Given the description of an element on the screen output the (x, y) to click on. 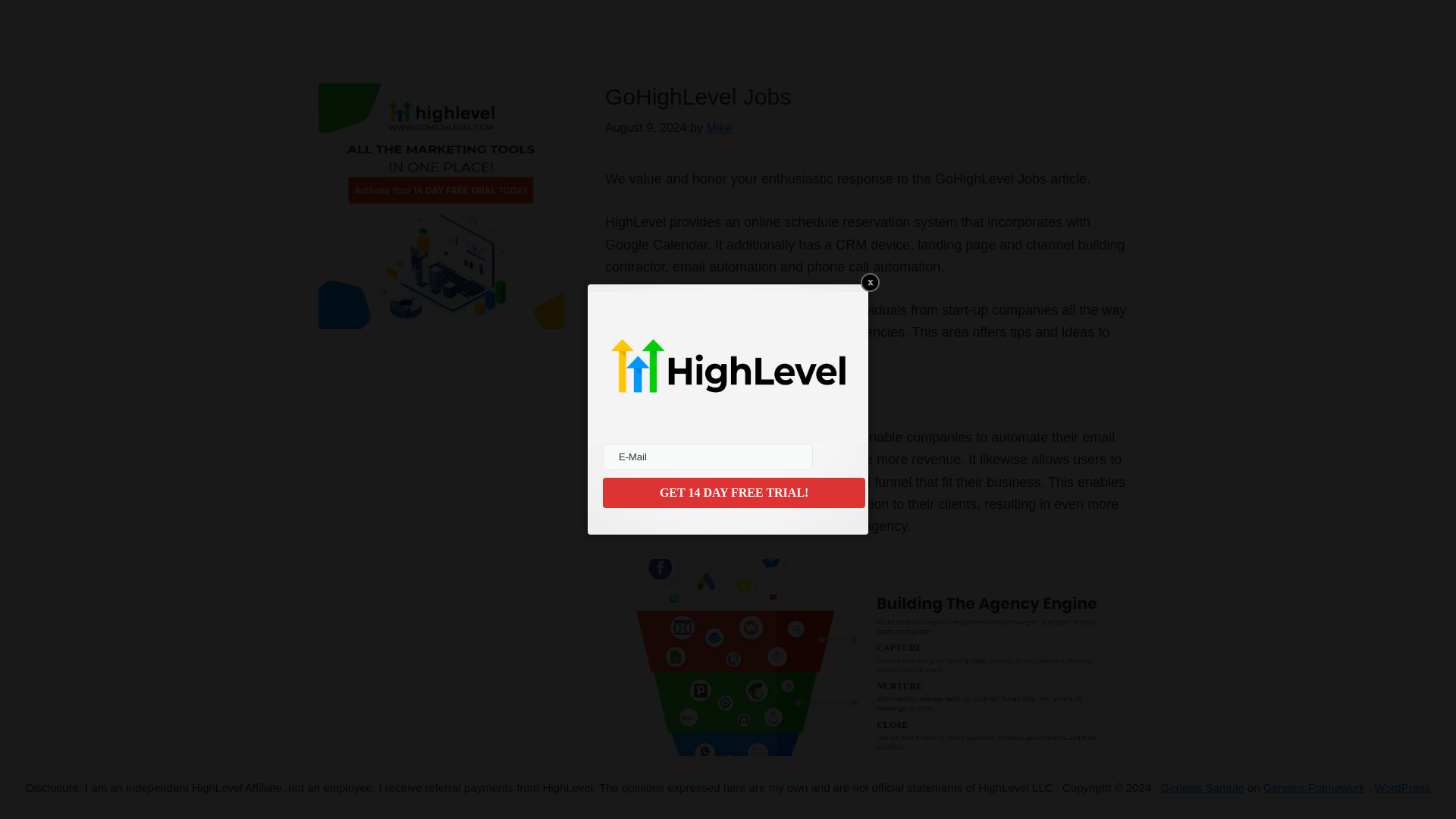
GET 14 DAY FREE TRIAL! (733, 492)
WordPress (1401, 787)
Mike (719, 127)
Genesis Framework (1314, 787)
Genesis Sample (1202, 787)
GET 14 DAY FREE TRIAL! (733, 492)
